Given the description of an element on the screen output the (x, y) to click on. 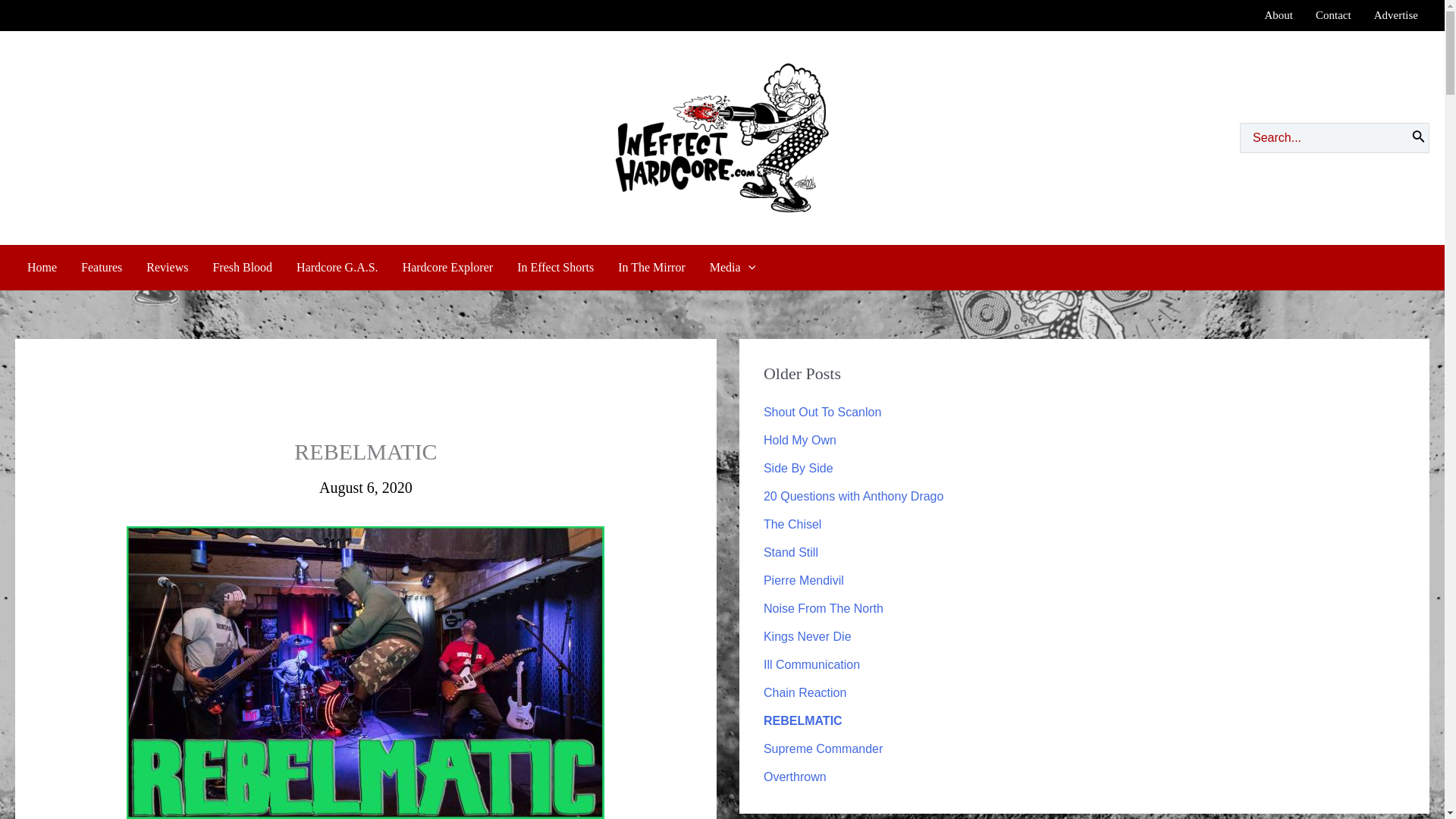
Hardcore G.A.S. (336, 267)
Home (41, 267)
Contact (1333, 15)
Reviews (166, 267)
In The Mirror (651, 267)
Media (732, 267)
About (1278, 15)
Features (100, 267)
Fresh Blood (241, 267)
Advertise (1395, 15)
